Given the description of an element on the screen output the (x, y) to click on. 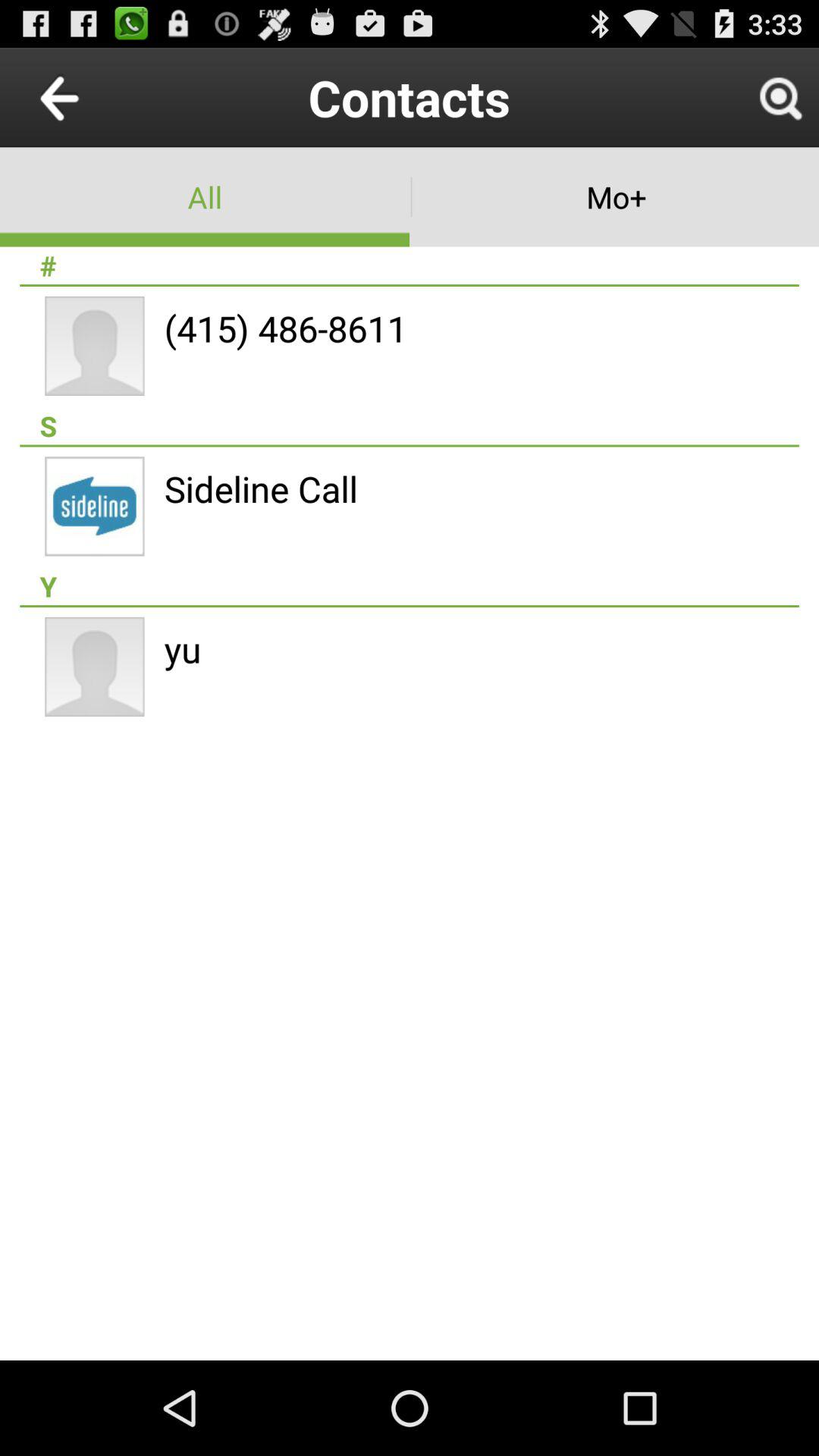
scroll to # (409, 265)
